Given the description of an element on the screen output the (x, y) to click on. 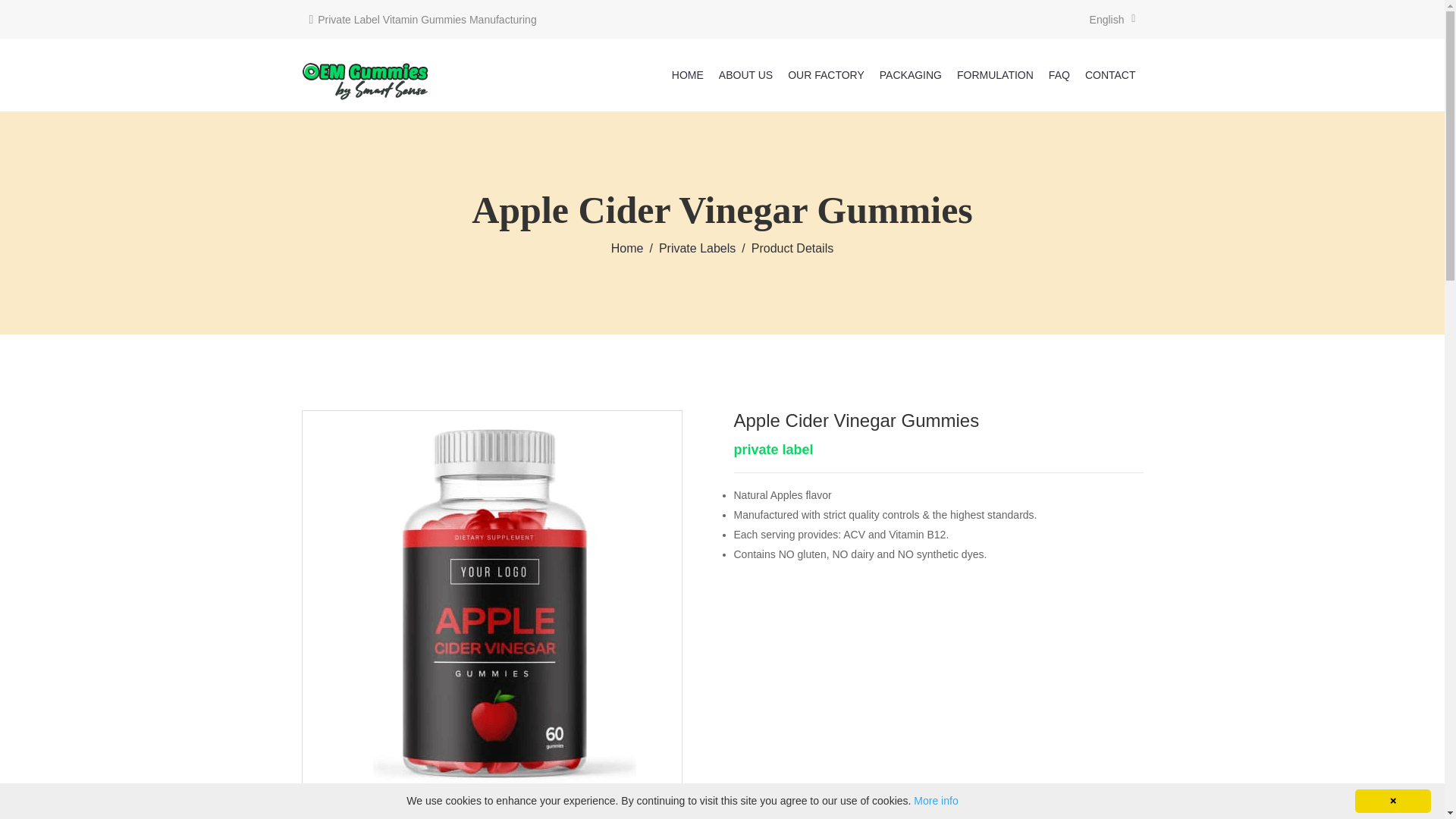
CONTACT (1109, 74)
OUR FACTORY (826, 74)
FORMULATION (995, 74)
Home (627, 247)
PACKAGING (910, 74)
ABOUT US (745, 74)
Private Labels (697, 247)
Private Label Vitamin Gummies Manufacturing (422, 19)
